Given the description of an element on the screen output the (x, y) to click on. 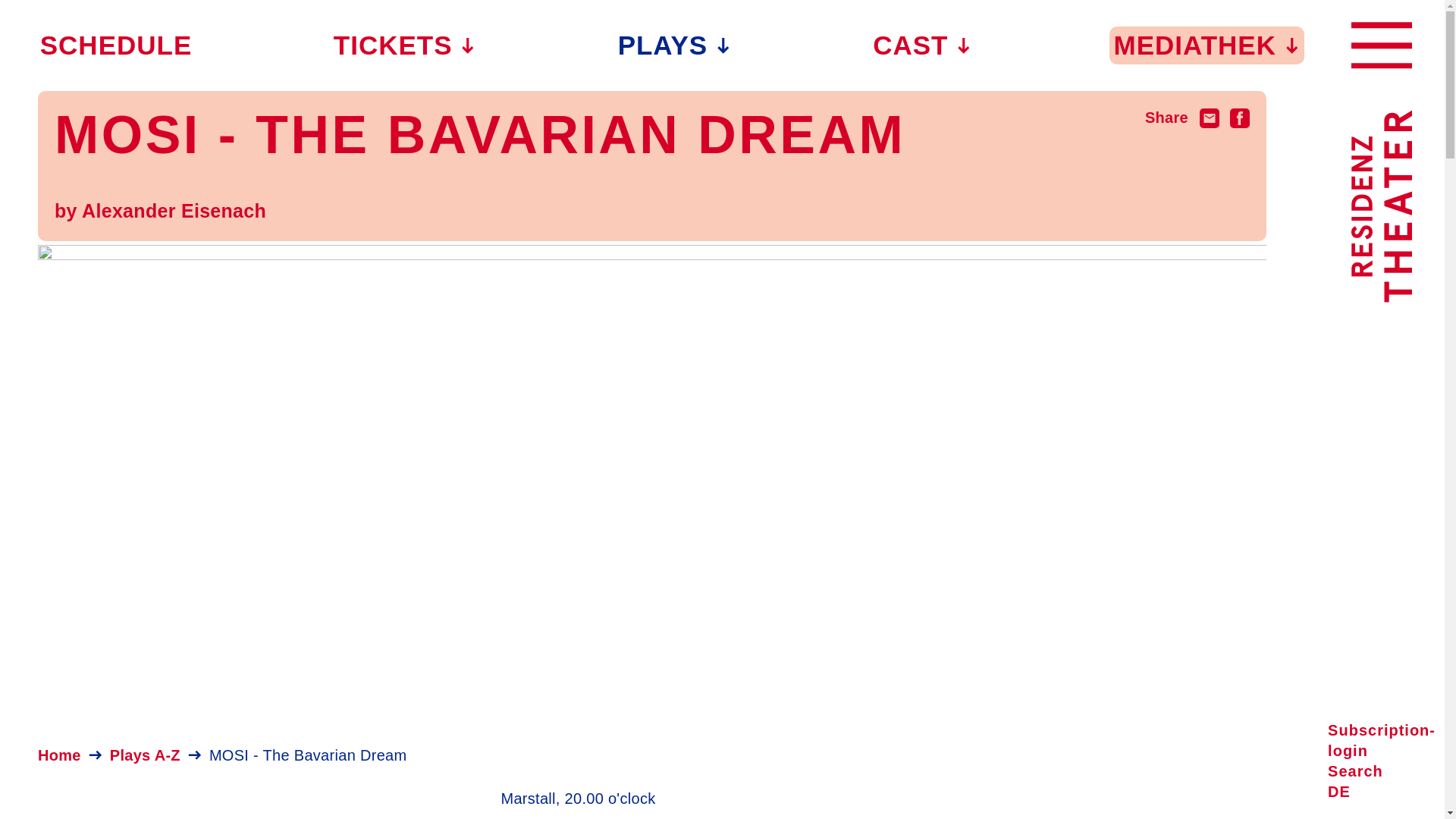
Home (59, 755)
Plays A-Z (145, 755)
DE (1338, 791)
Share 'MOSI - The Bavarian Dream' via Facebook (1239, 117)
SCHEDULE (116, 44)
Share 'MOSI - The Bavarian Dream via mail (1209, 117)
